Given the description of an element on the screen output the (x, y) to click on. 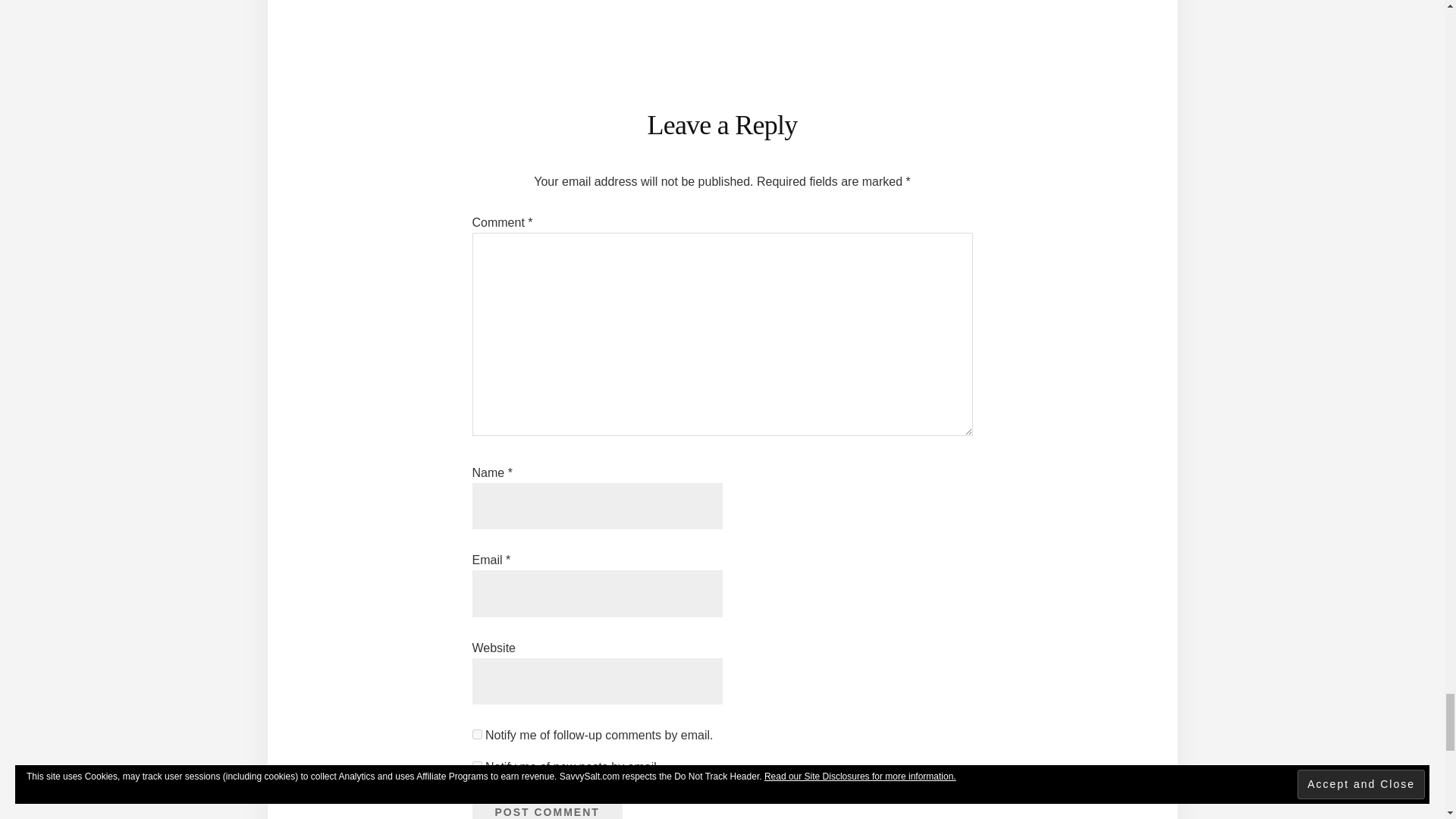
Post Comment (546, 804)
subscribe (476, 734)
Post Comment (546, 804)
subscribe (476, 766)
